Given the description of an element on the screen output the (x, y) to click on. 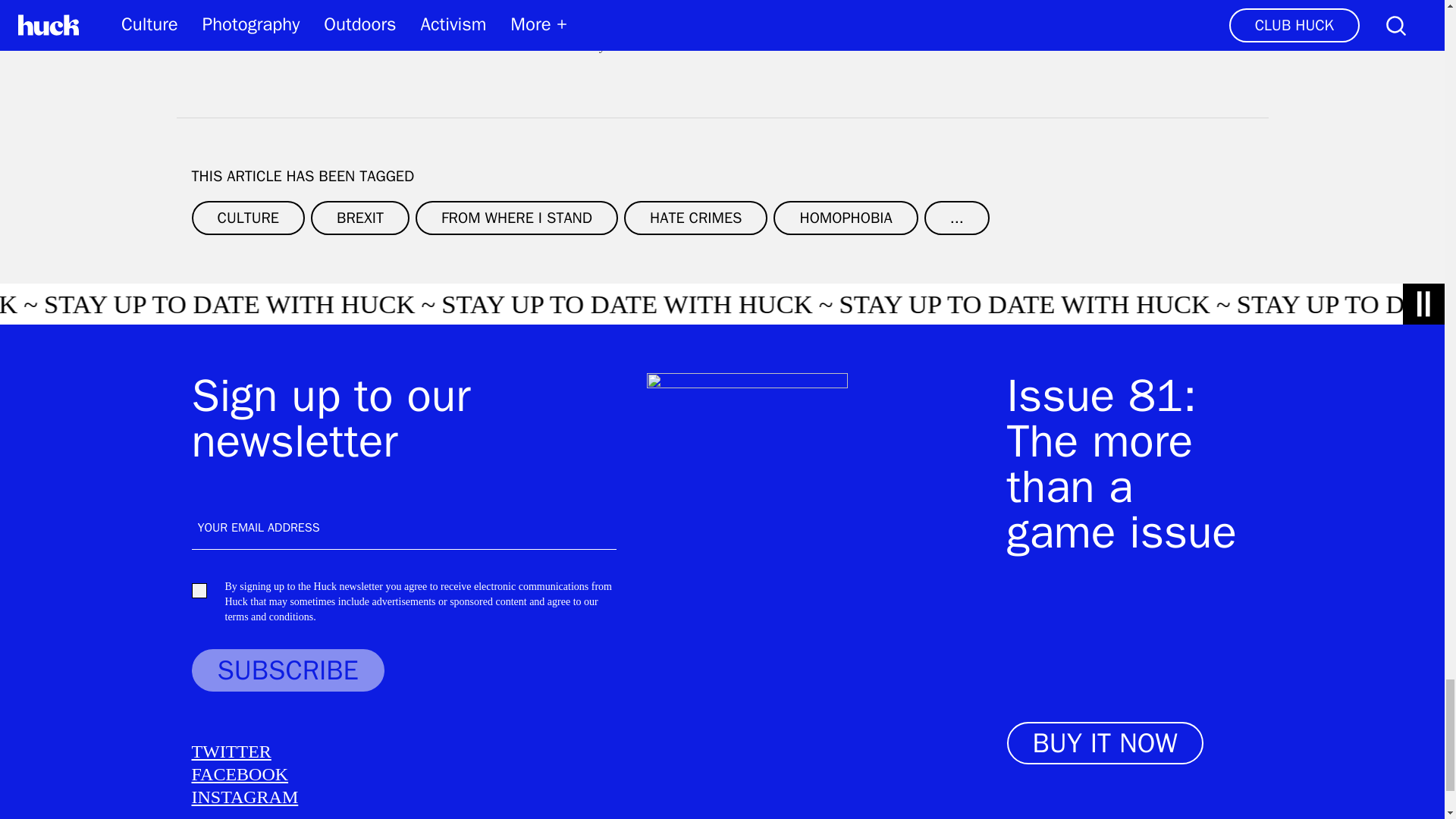
BREXIT (360, 217)
... (957, 217)
HOMOPHOBIA (845, 217)
FACEBOOK (239, 773)
INSTAGRAM (244, 796)
FROM WHERE I STAND (515, 217)
SUBSCRIBE (287, 670)
BUY IT NOW (1105, 742)
CULTURE (247, 217)
TWITTER (230, 751)
